Given the description of an element on the screen output the (x, y) to click on. 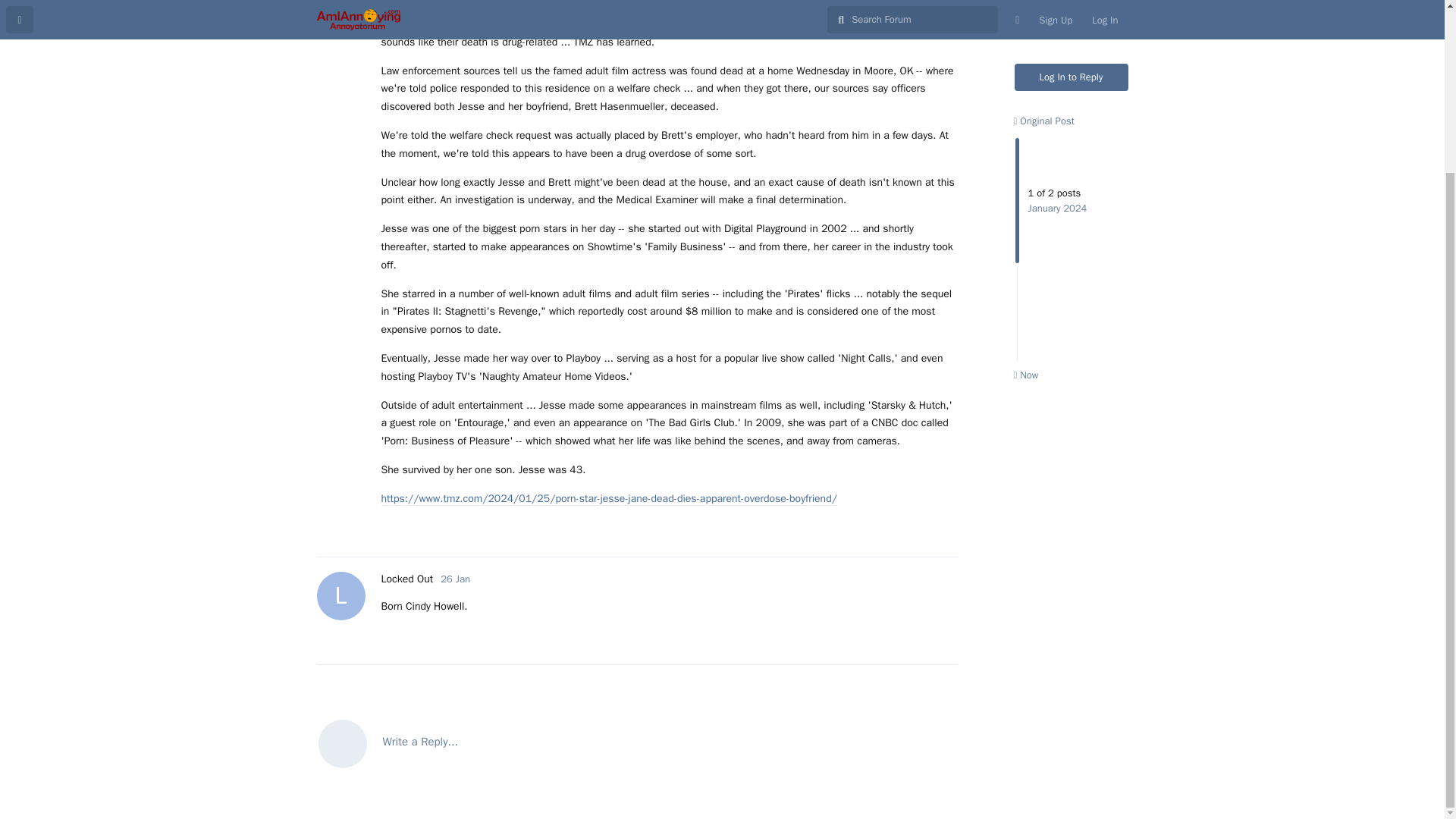
Original Post (406, 578)
Now (1043, 19)
Write a Reply... (1025, 273)
26 Jan (636, 742)
Friday, January 26, 2024 6:23 AM (455, 578)
